Given the description of an element on the screen output the (x, y) to click on. 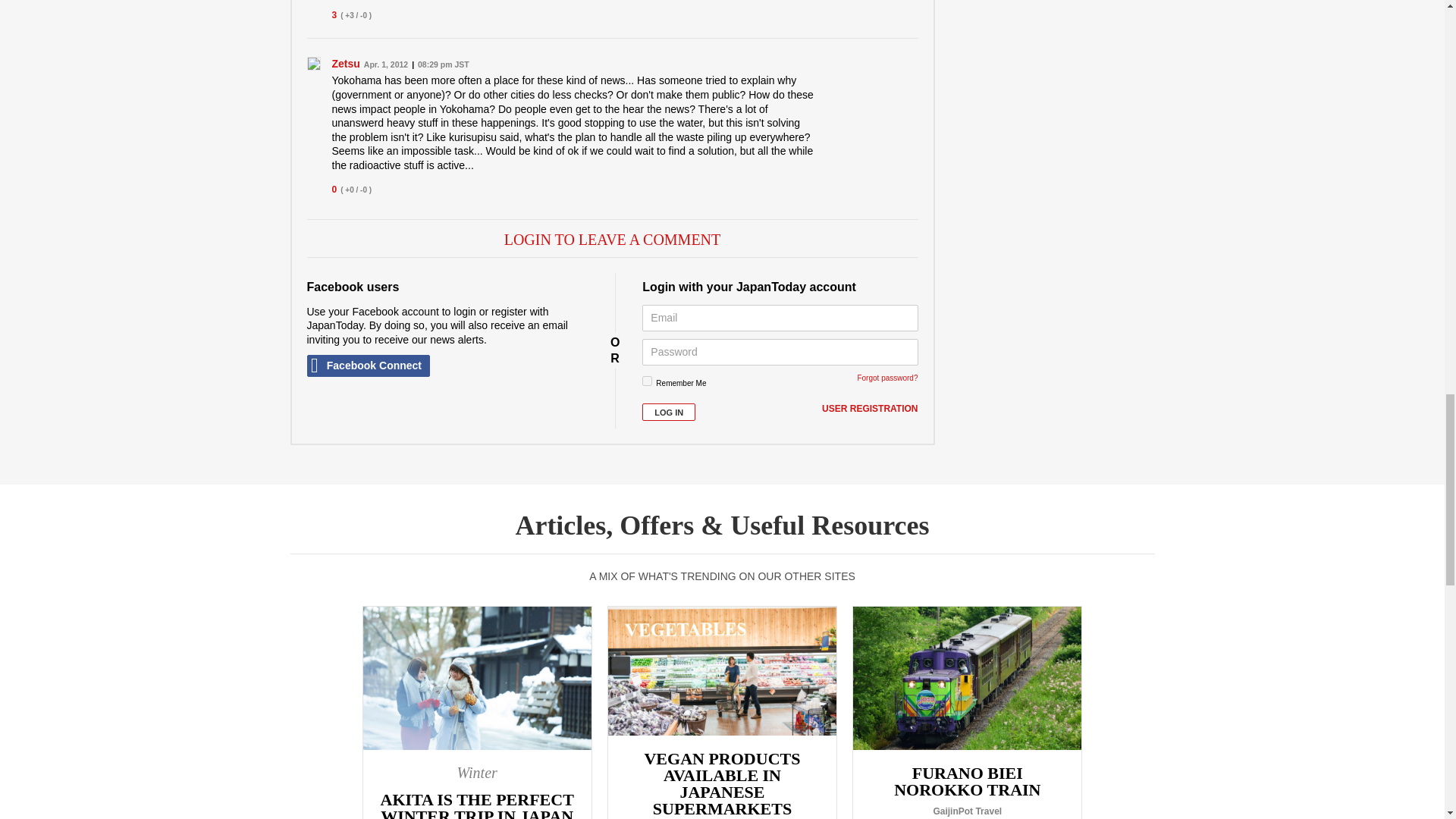
User registration (869, 409)
Log In (668, 411)
Akita is The Perfect Winter Trip in Japan (476, 712)
1 (647, 380)
Connect with Facebook (367, 365)
Forgot password? (887, 377)
